Given the description of an element on the screen output the (x, y) to click on. 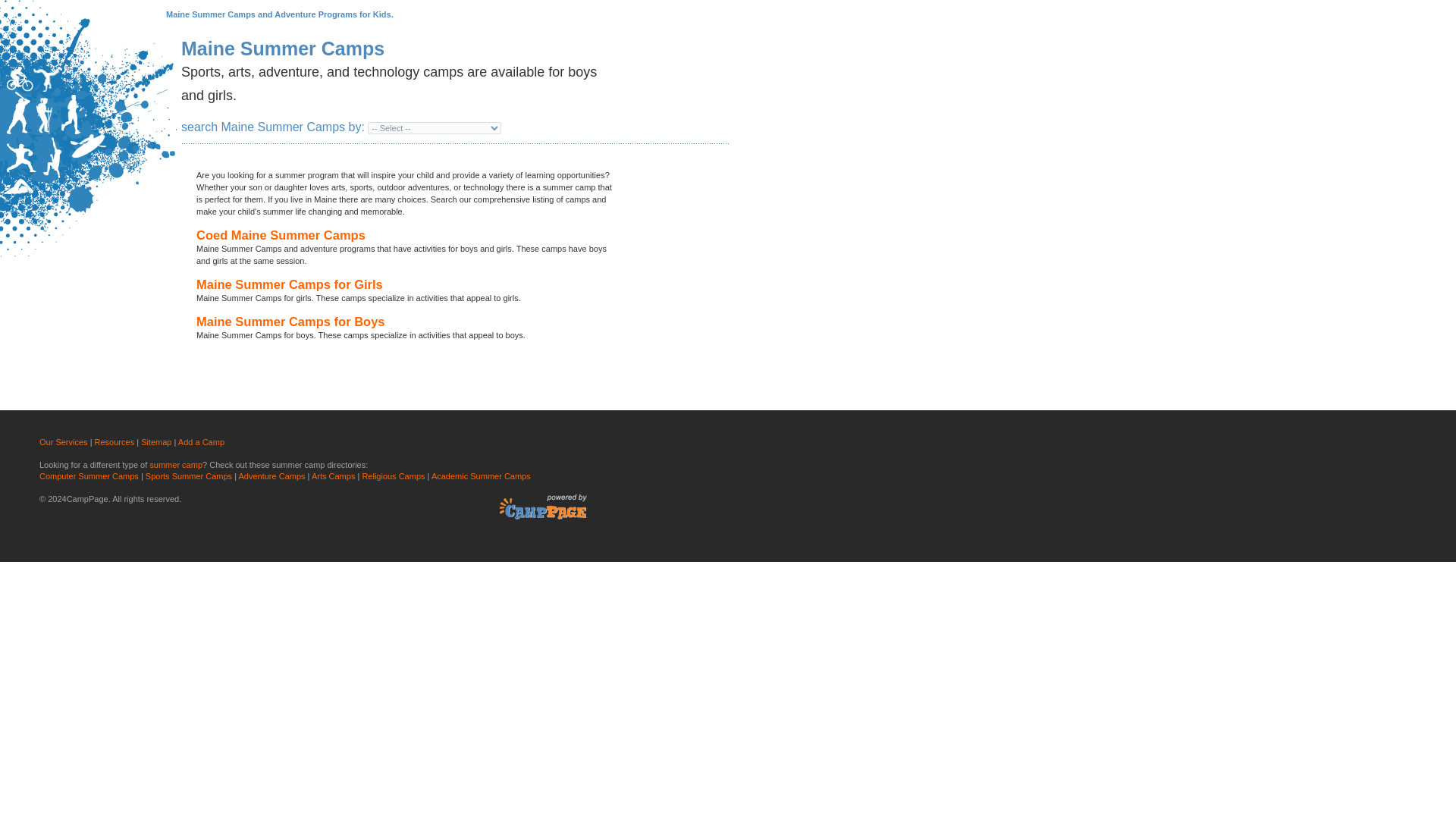
Site Map (68, 299)
Our Services (68, 258)
Arts Summer Camps (333, 475)
Academic Camps (480, 475)
Adventure Camps (271, 475)
Computer Camps (88, 475)
Sports Summer Camps (188, 475)
Resources (114, 441)
Coed Maine Summer Camps (280, 234)
Add a Camp (68, 320)
Maine Summer Camps for Boys (290, 321)
Sports Summer Camps (188, 475)
Computer Summer Camps (88, 475)
Site Map (68, 299)
summer camp (175, 464)
